Given the description of an element on the screen output the (x, y) to click on. 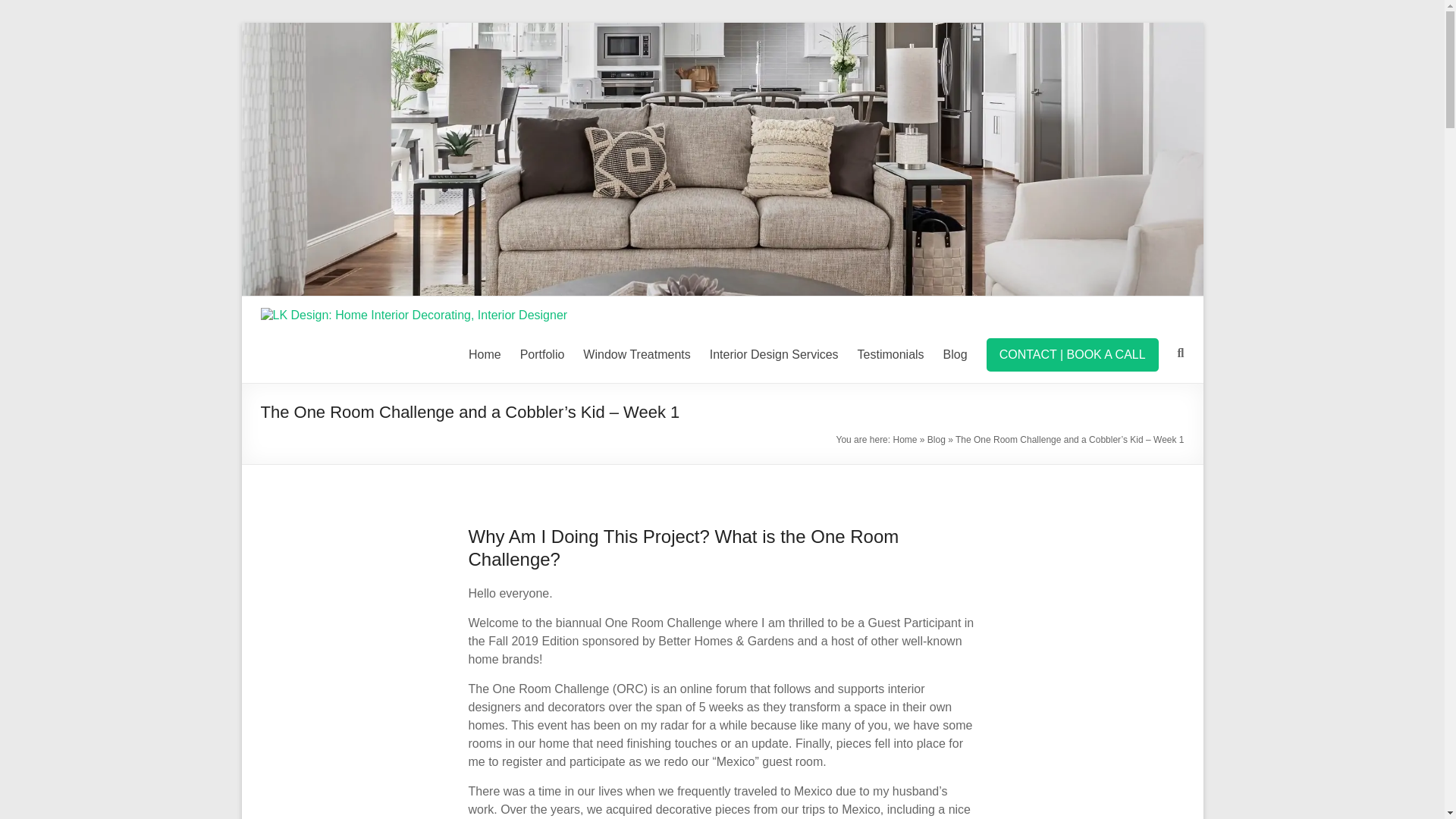
Home (904, 439)
Blog (935, 439)
LK Design: Home Interior Decorating, Interior Designer (721, 29)
Home (484, 354)
Testimonials (890, 354)
Portfolio (541, 354)
Window Treatments (636, 354)
Interior Design Services (774, 354)
Blog (955, 354)
